Given the description of an element on the screen output the (x, y) to click on. 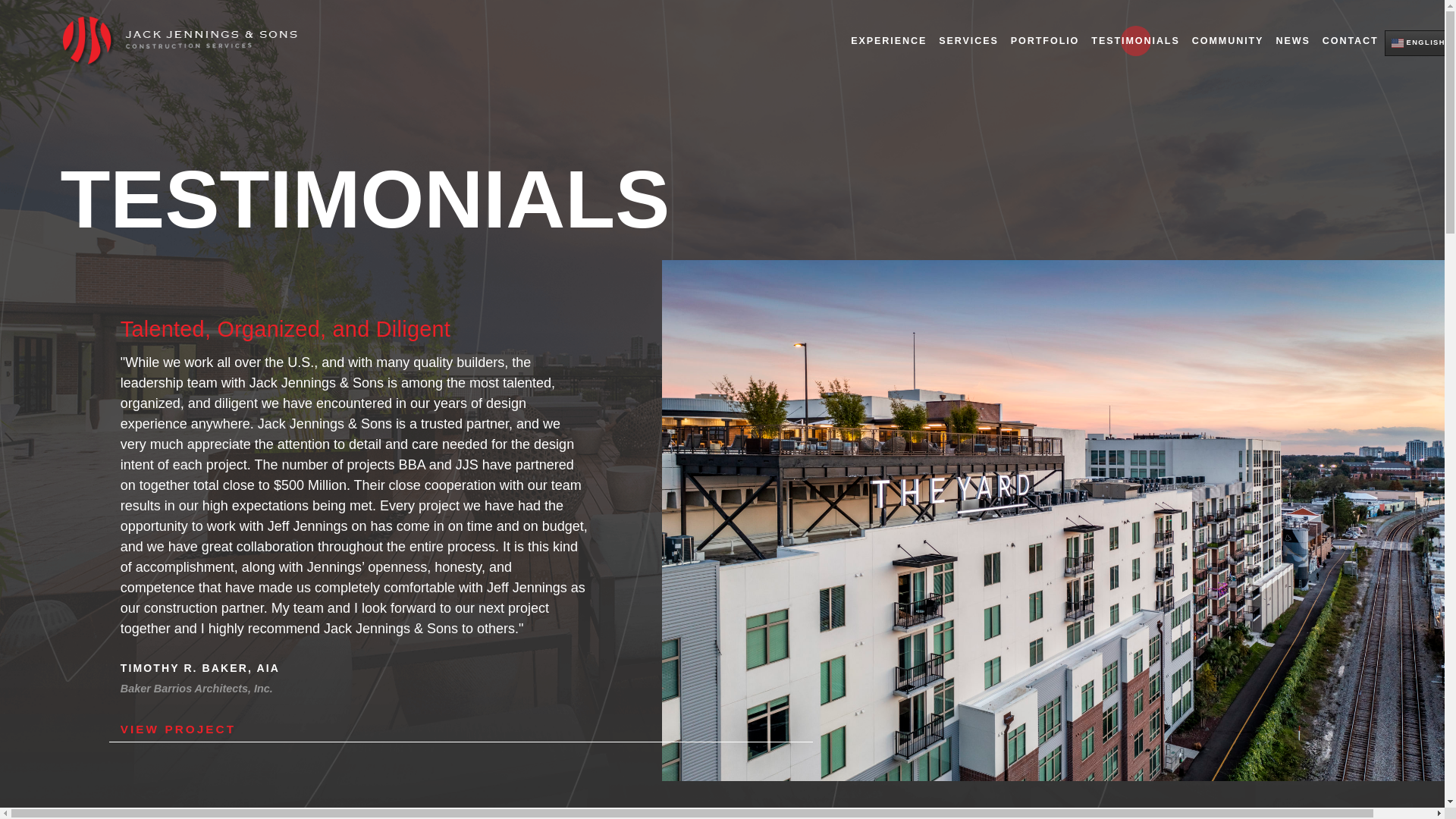
SERVICES (968, 41)
NEWS (1292, 41)
PORTFOLIO (1044, 41)
CONTACT (1350, 41)
VIEW PROJECT (461, 729)
EXPERIENCE (888, 41)
TESTIMONIALS (1134, 41)
COMMUNITY (1227, 41)
